Given the description of an element on the screen output the (x, y) to click on. 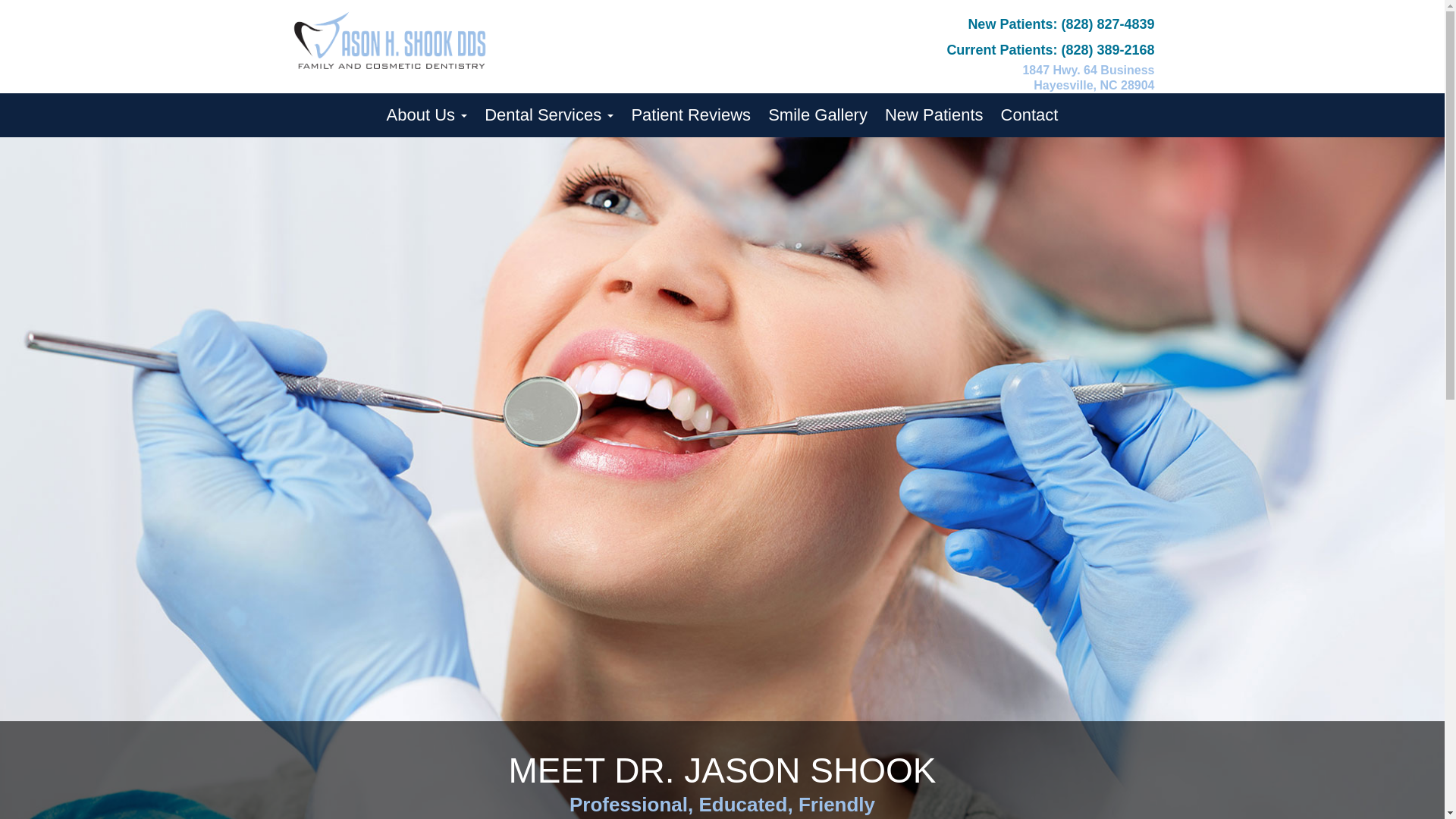
New Patients (934, 114)
Patient Reviews (690, 114)
About Us (427, 114)
Contact (1029, 114)
Smile Gallery (817, 114)
Dental Services (548, 114)
